Given the description of an element on the screen output the (x, y) to click on. 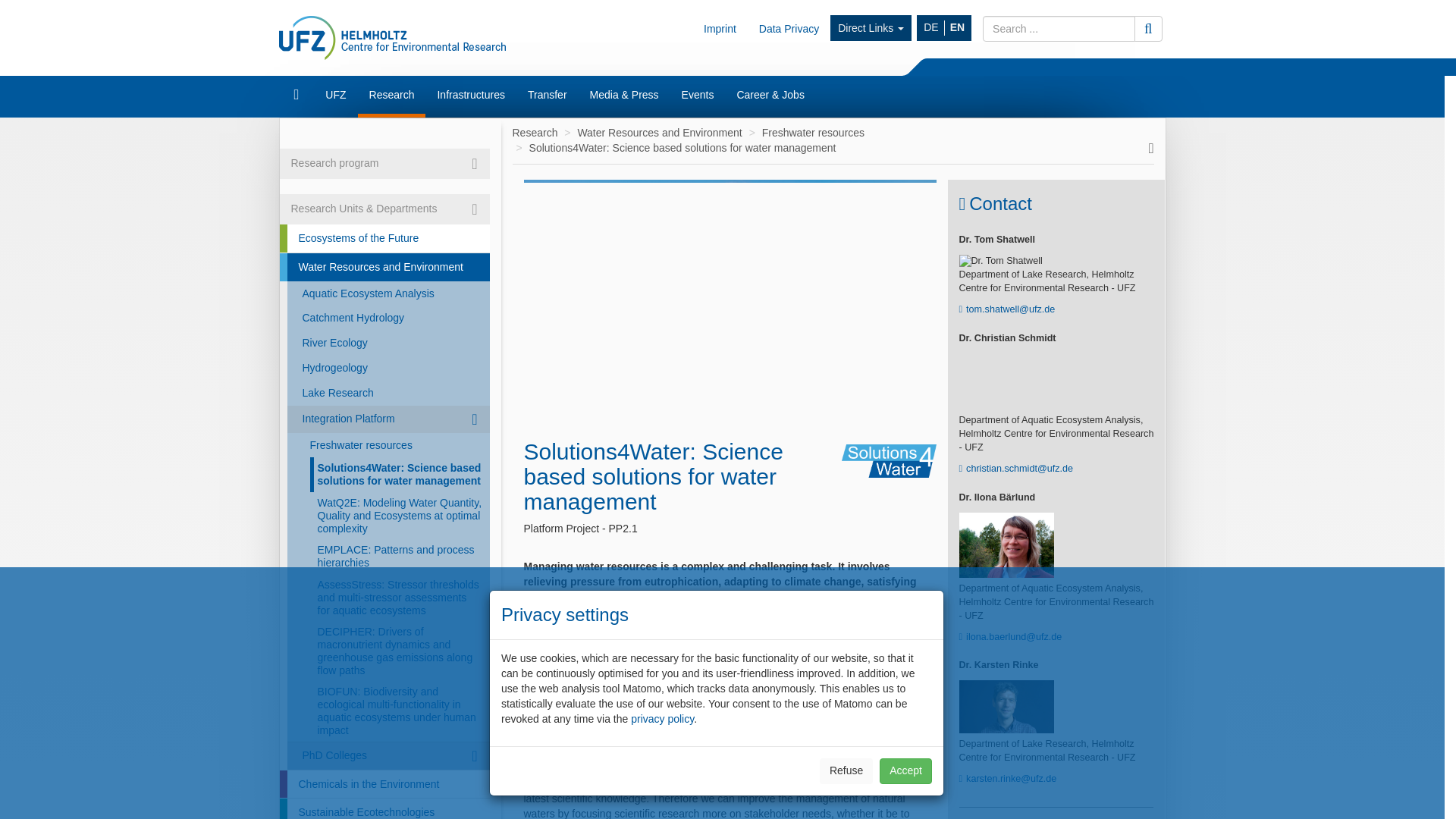
EN (956, 28)
DE (930, 28)
Dr. Karsten Rinke (1005, 706)
logo: Solutions4Water (888, 460)
Dr. Tom Shatwell (1005, 261)
link privacy policy (662, 718)
search term (1058, 28)
Dr. Christian Schmidt (1005, 380)
Direct Links (870, 27)
Data Privacy (788, 28)
